Given the description of an element on the screen output the (x, y) to click on. 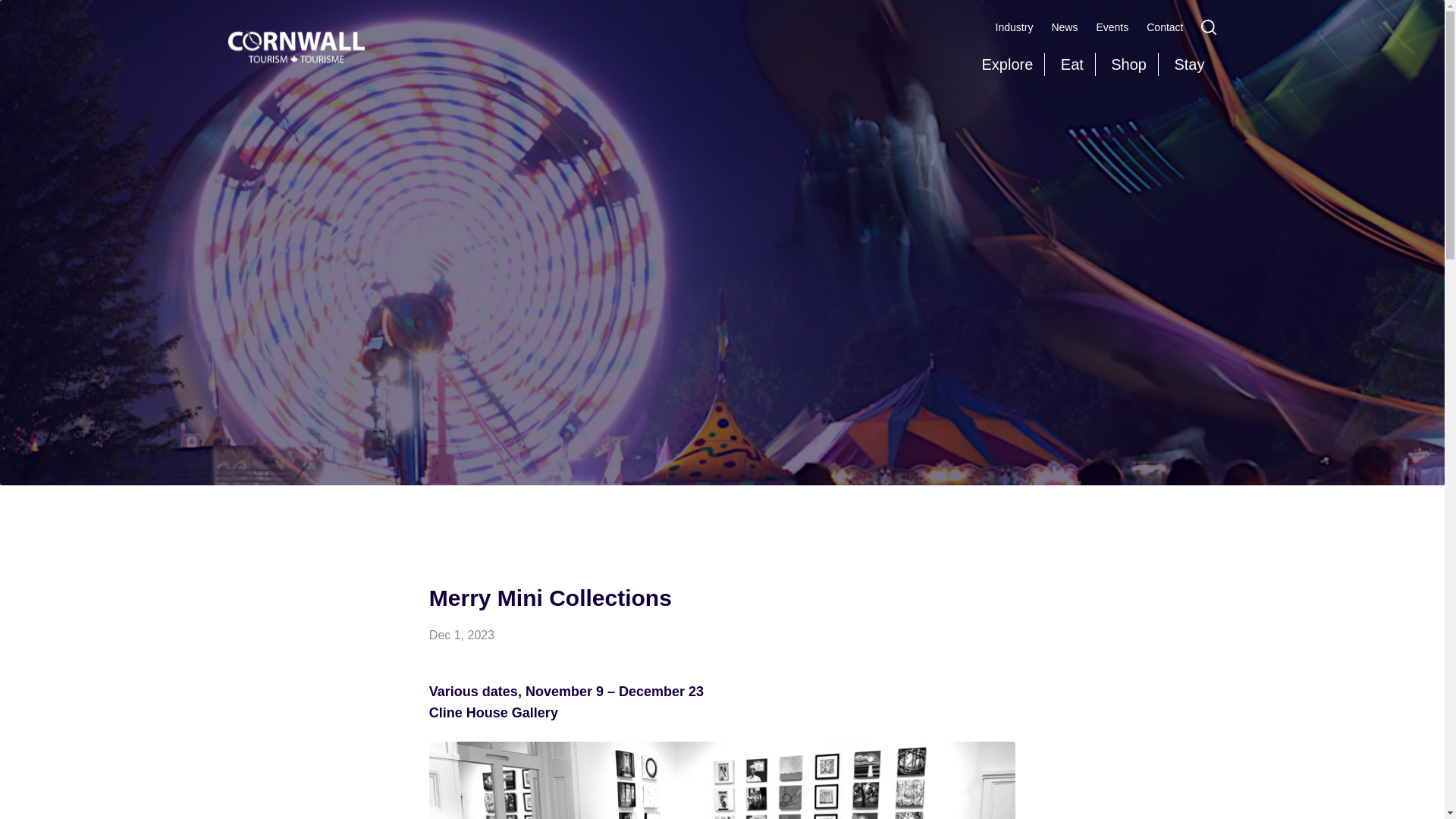
search (1208, 27)
